Given the description of an element on the screen output the (x, y) to click on. 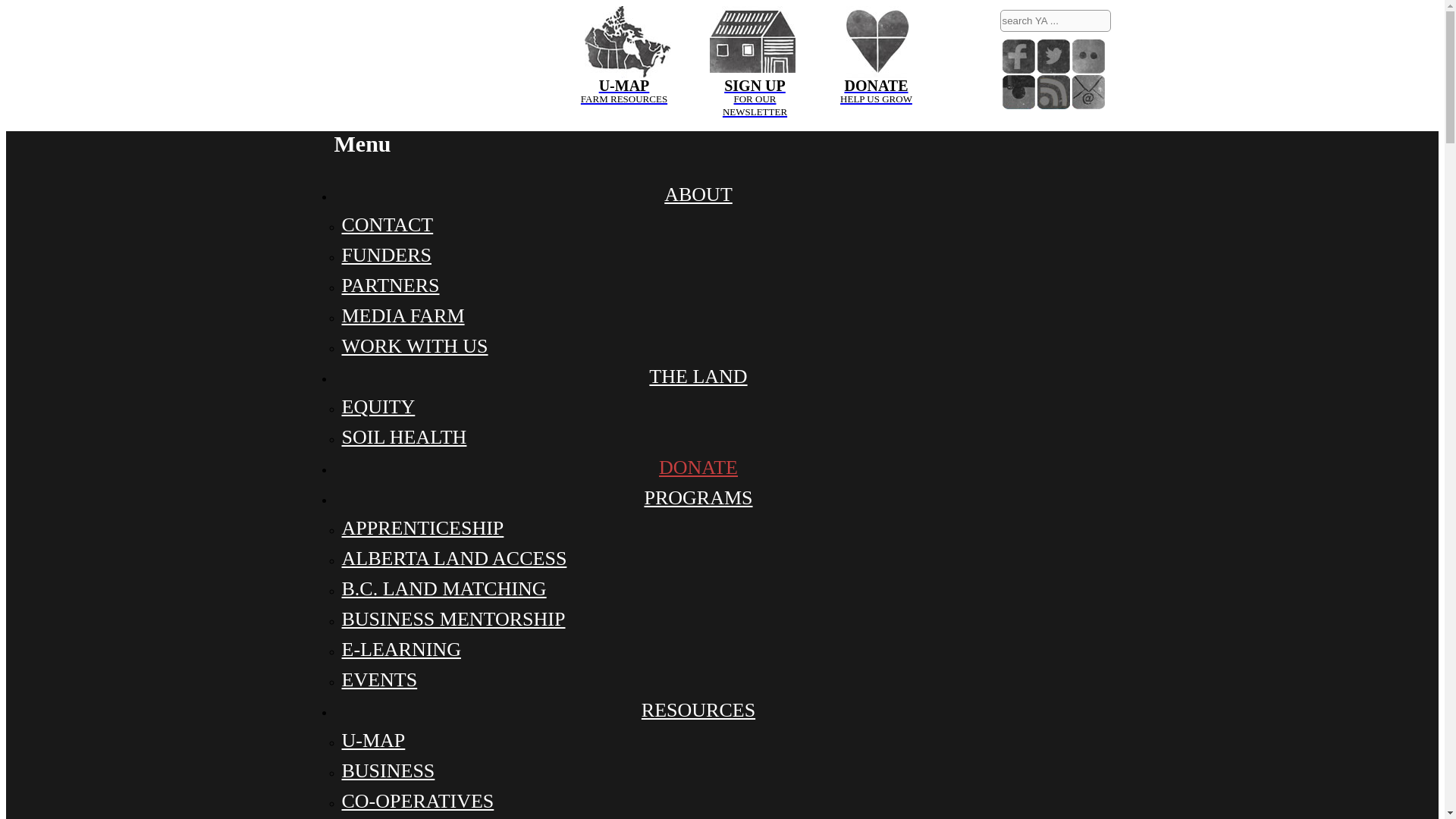
Mail (1088, 91)
Twitter (1053, 56)
Instagram (1019, 91)
Facebook (1019, 56)
Flickr (1088, 56)
RSS (623, 41)
Skip to content (1053, 91)
